Given the description of an element on the screen output the (x, y) to click on. 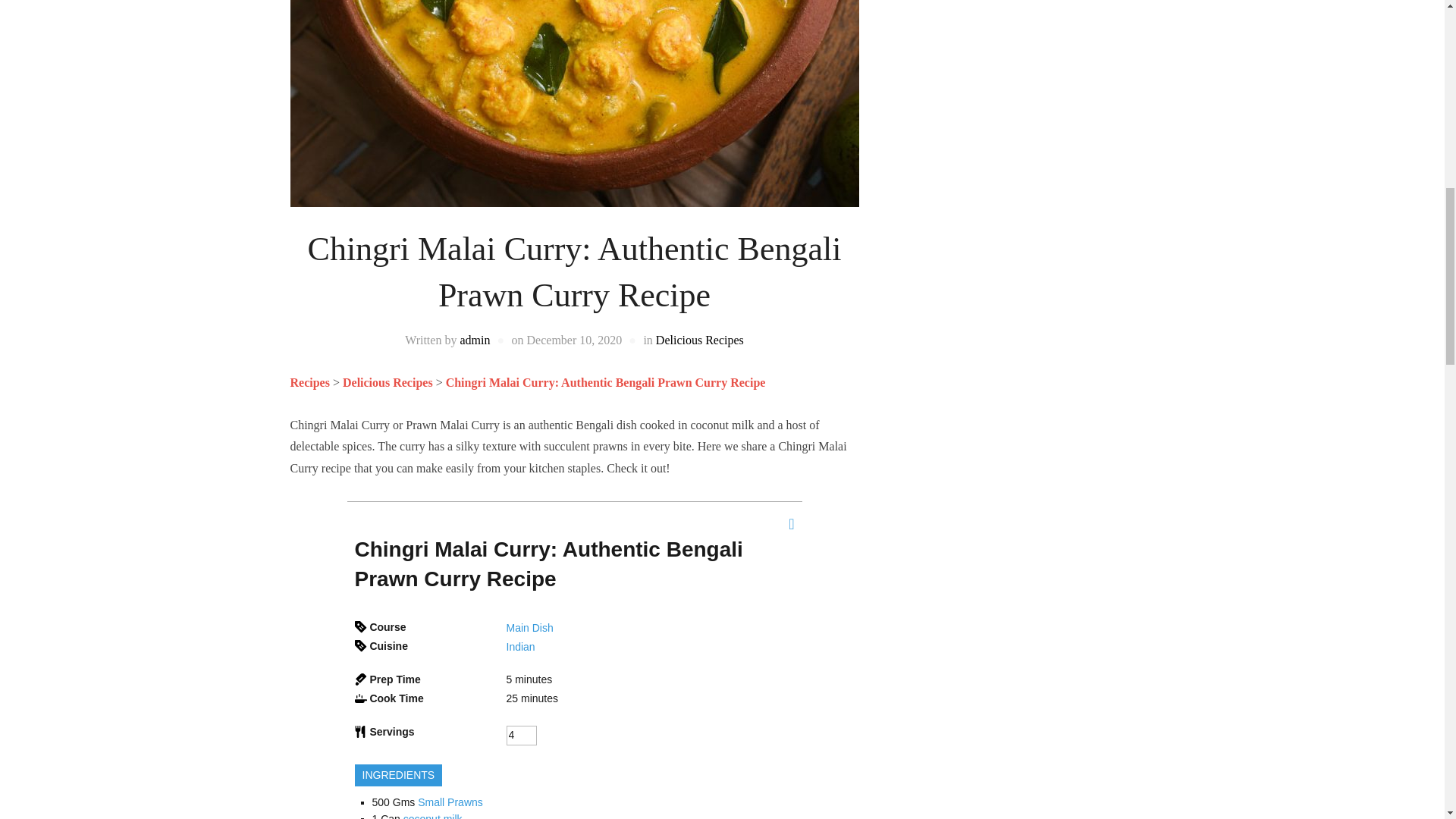
Recipes (309, 382)
Chingri Malai Curry: Authentic Bengali Prawn Curry Recipe (605, 382)
admin (474, 339)
Posts by admin (474, 339)
Delicious Recipes (700, 339)
Go to Recipes. (309, 382)
Go to the Delicious Recipes Category archives. (387, 382)
4 (521, 735)
Delicious Recipes (387, 382)
